Given the description of an element on the screen output the (x, y) to click on. 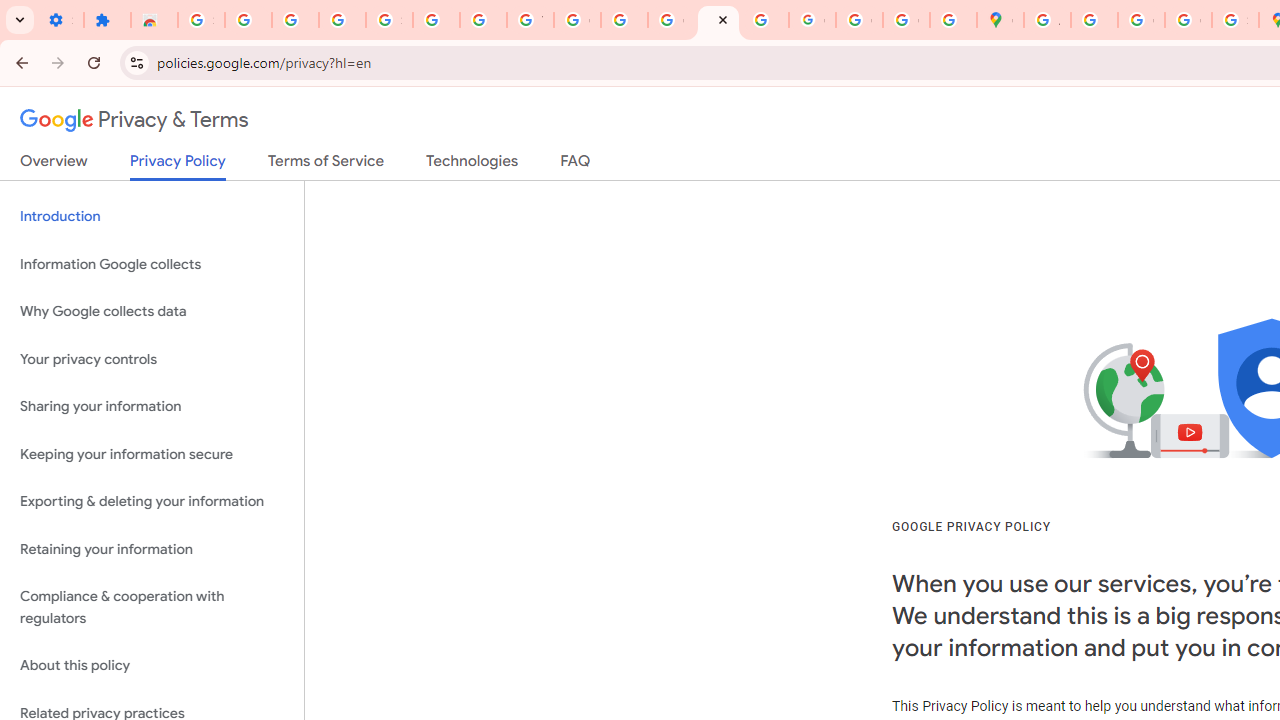
Terms of Service (326, 165)
Sign in - Google Accounts (389, 20)
Information Google collects (152, 263)
Safety in Our Products - Google Safety Center (1235, 20)
